Given the description of an element on the screen output the (x, y) to click on. 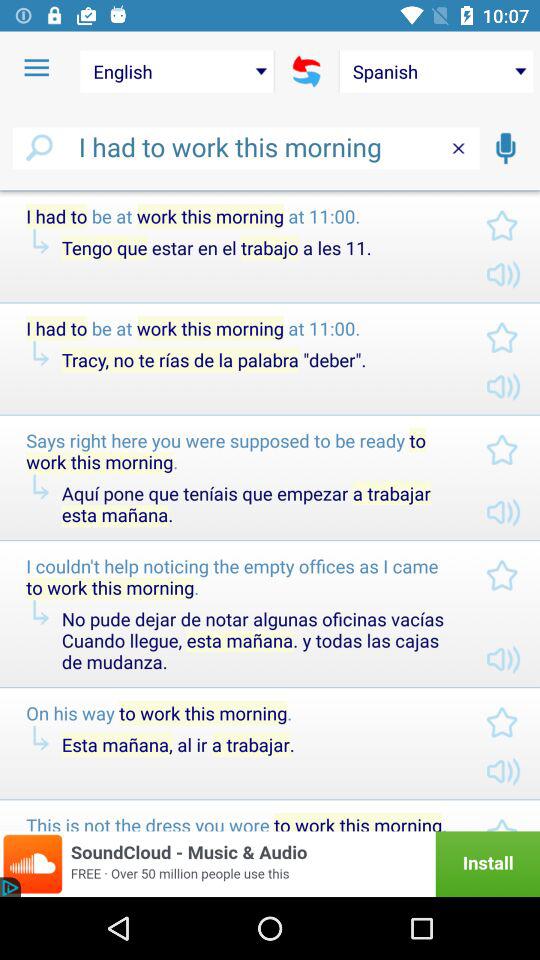
turn on the on his way (239, 712)
